Given the description of an element on the screen output the (x, y) to click on. 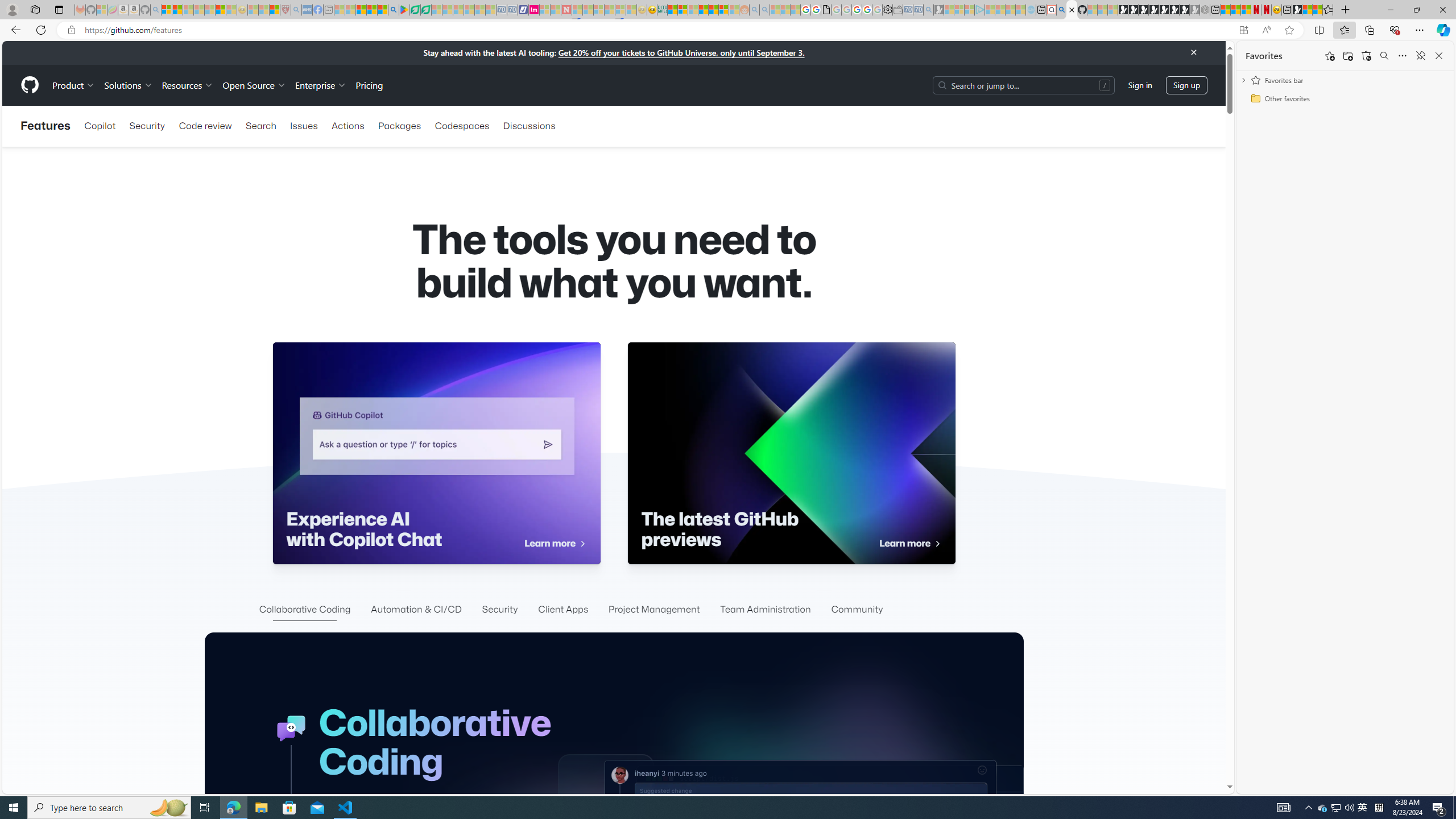
Enterprise (319, 84)
Product (74, 84)
Unpin favorites (1420, 55)
Pets - MSN (371, 9)
Product (74, 84)
